Given the description of an element on the screen output the (x, y) to click on. 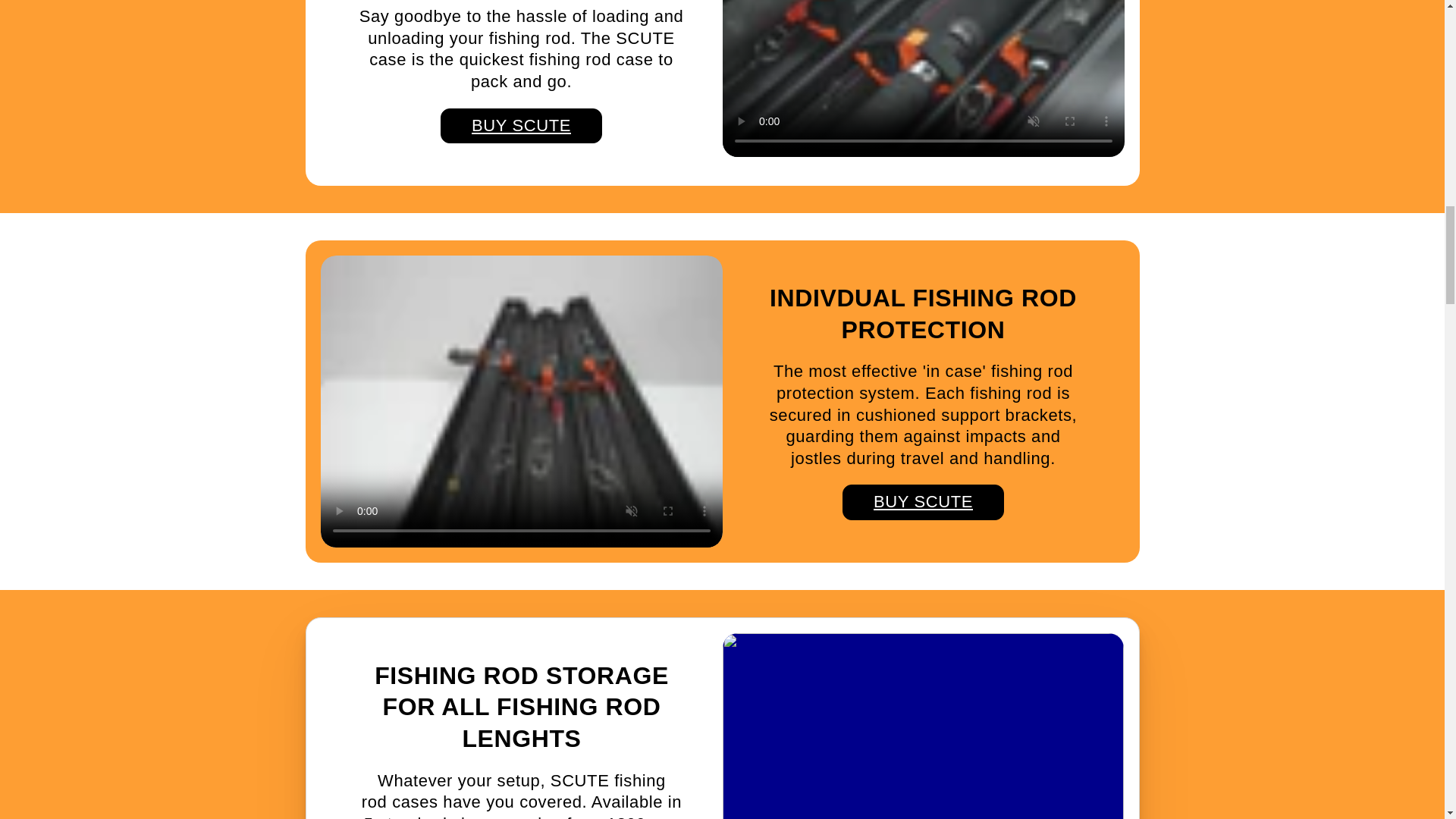
BUY SCUTE (923, 502)
BUY SCUTE (521, 126)
